Given the description of an element on the screen output the (x, y) to click on. 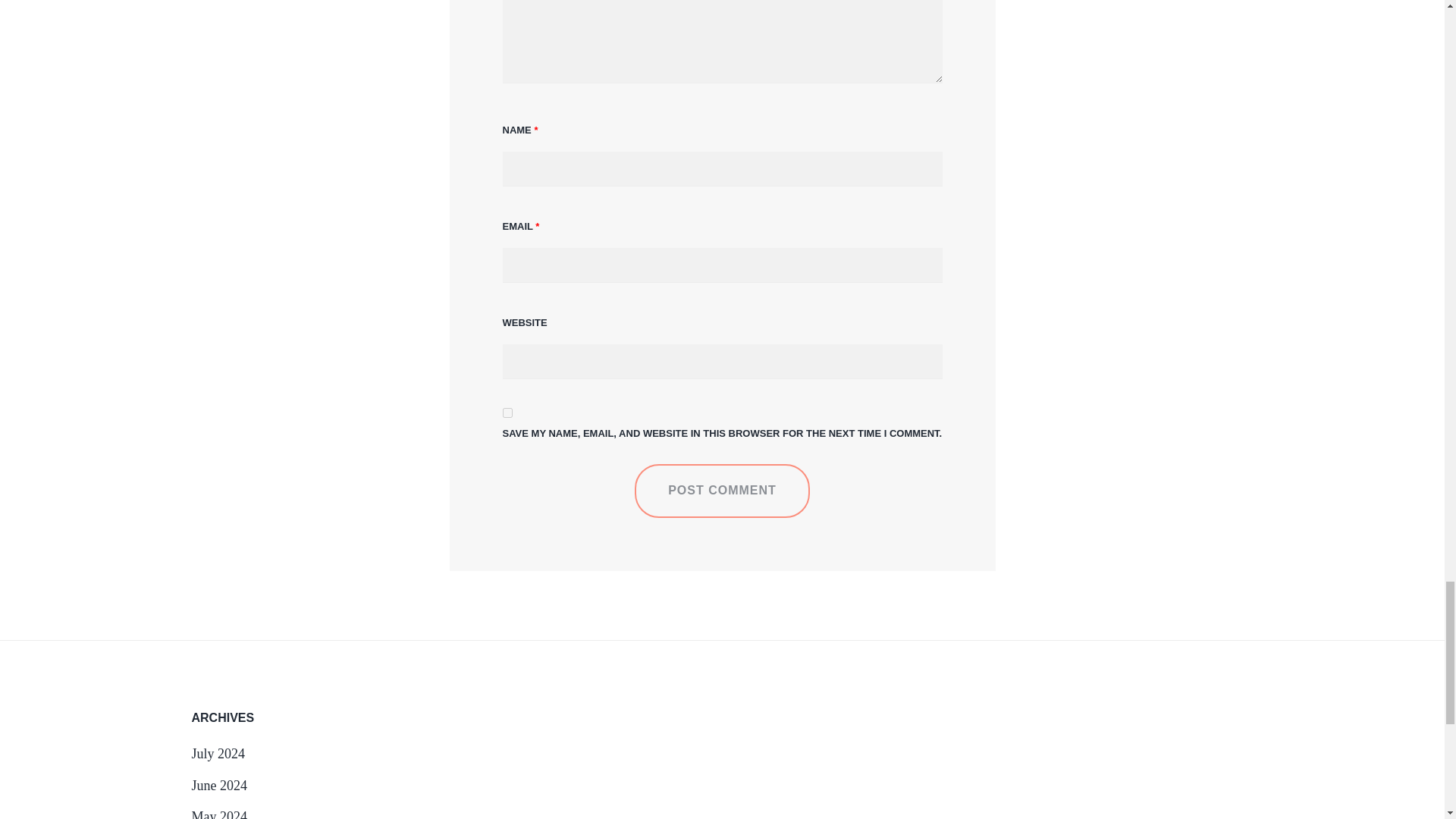
Post Comment (721, 490)
July 2024 (217, 753)
Post Comment (721, 490)
June 2024 (218, 785)
yes (507, 412)
May 2024 (218, 814)
